Given the description of an element on the screen output the (x, y) to click on. 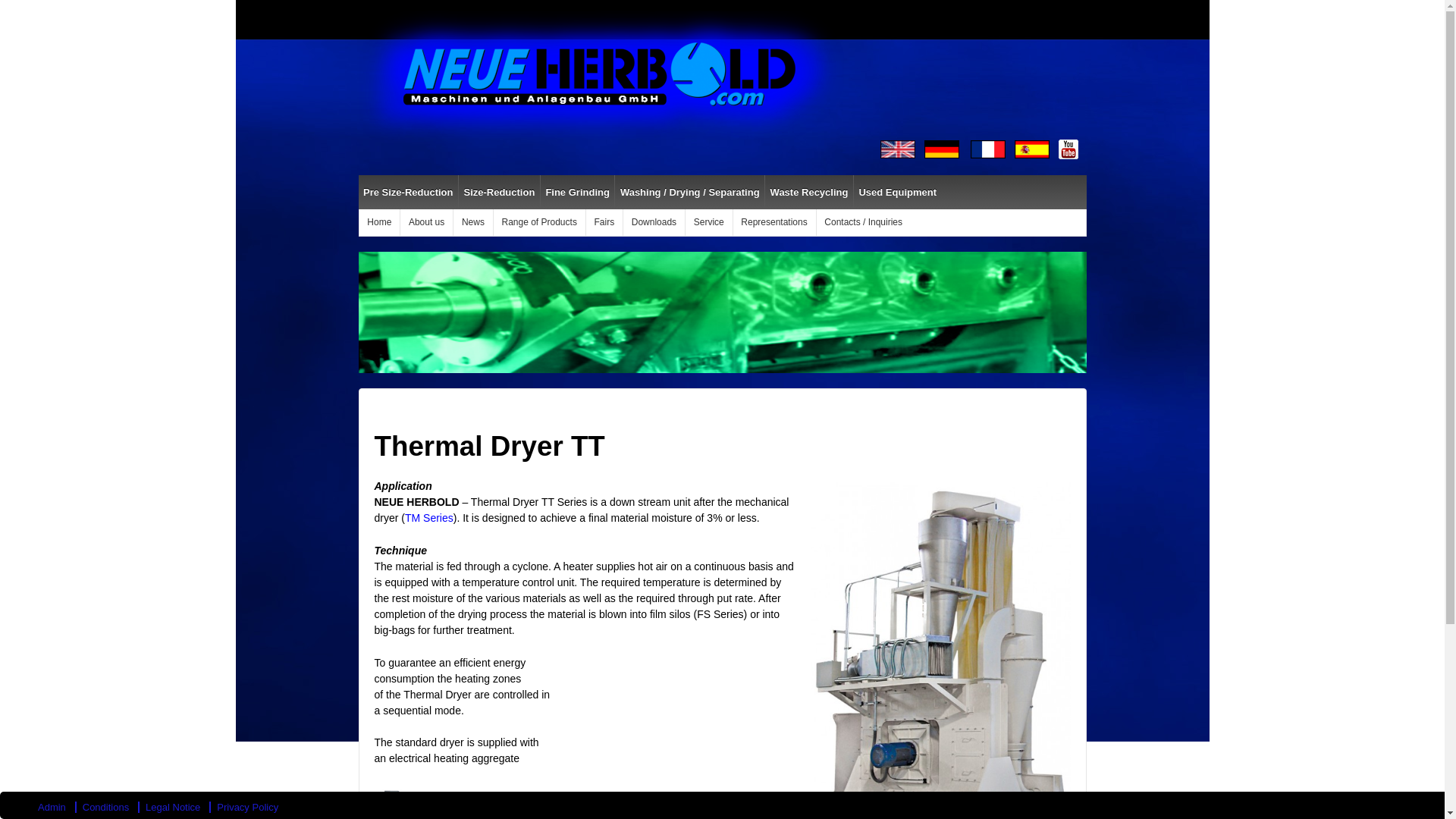
Neue-Herbold.com - US (897, 148)
Size-Reduction (499, 192)
Pre Size-Reduction (407, 192)
Neue-Herbold.com - FR (988, 148)
YouTube (1068, 148)
Neue-Herbold.com - ES (1031, 148)
Fine Grinding (577, 192)
Neue-Herbold.com - DE (941, 148)
